Given the description of an element on the screen output the (x, y) to click on. 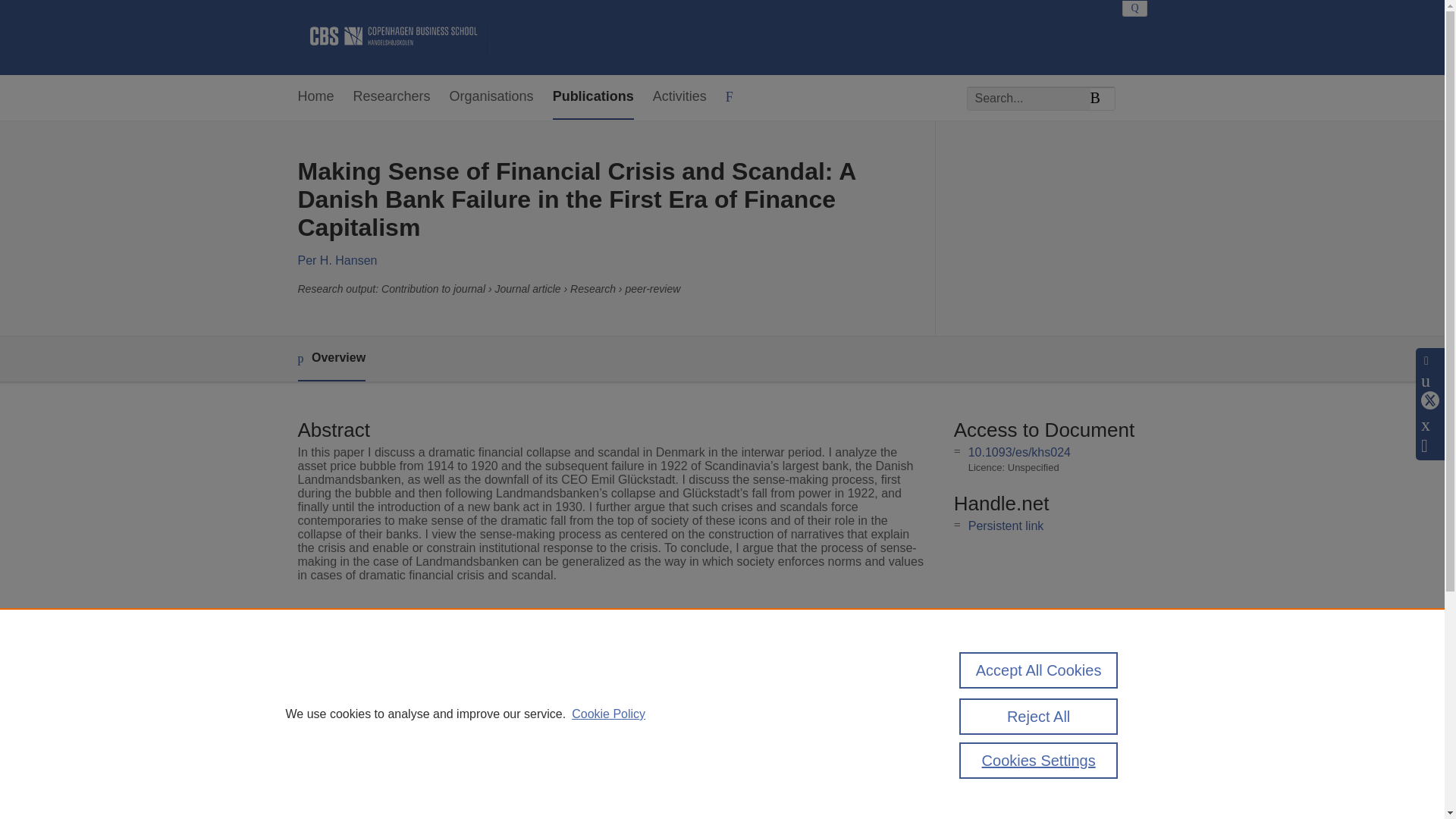
Publications (593, 97)
Overview (331, 358)
Cookies Settings (1038, 760)
Per H. Hansen (337, 259)
CBS Research Portal Home (393, 37)
Cookie Policy (608, 713)
Activities (679, 97)
Organisations (491, 97)
Persistent link (1005, 525)
Researchers (391, 97)
